Given the description of an element on the screen output the (x, y) to click on. 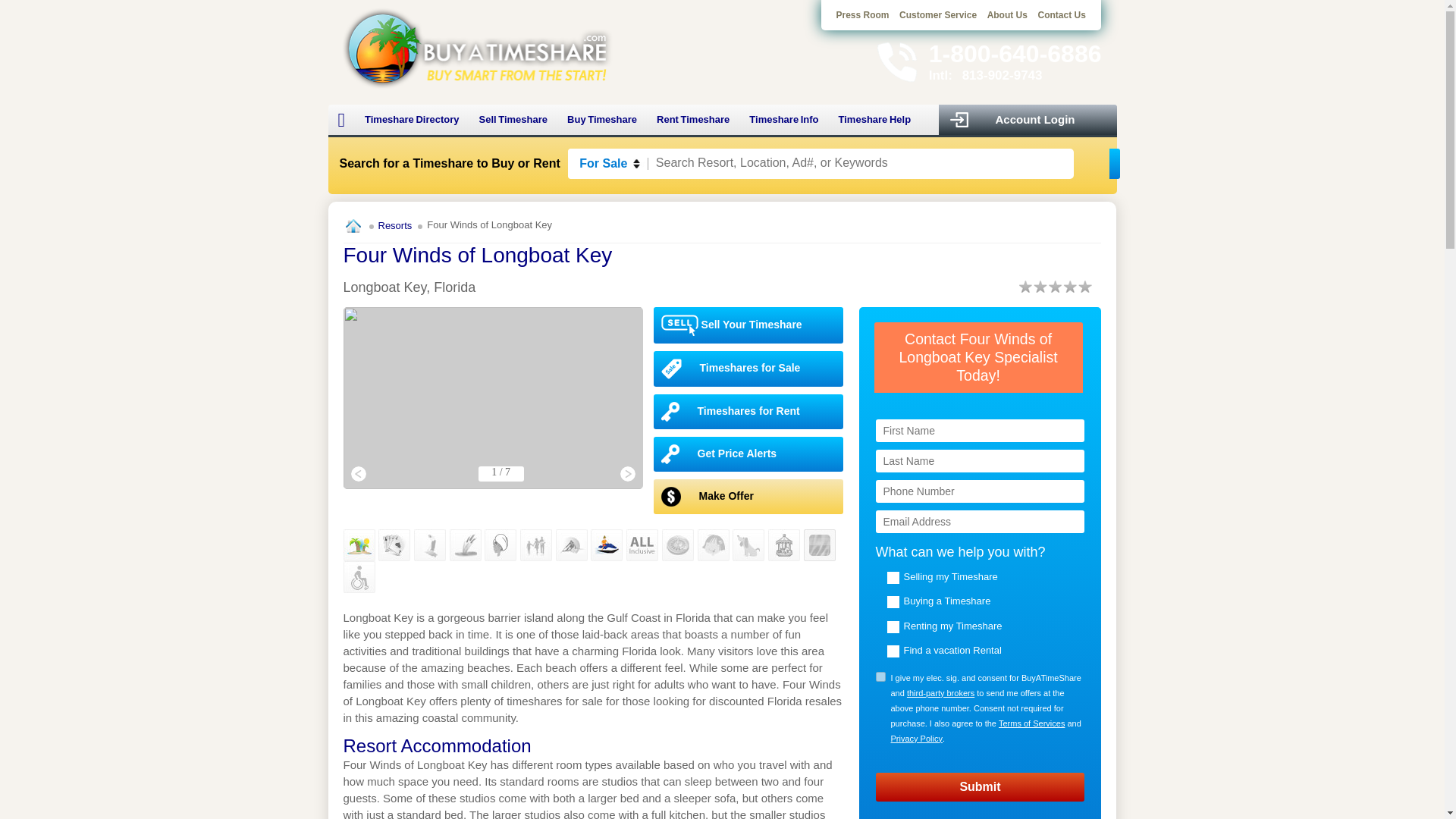
Timeshare Directory (411, 119)
1 (880, 676)
1-800-640-6886 (1015, 53)
Customer Service (937, 14)
Email (979, 521)
First Name (979, 430)
813-902-9743 (1002, 74)
checkbox (880, 676)
Phone Number (979, 490)
Submit (979, 787)
